Given the description of an element on the screen output the (x, y) to click on. 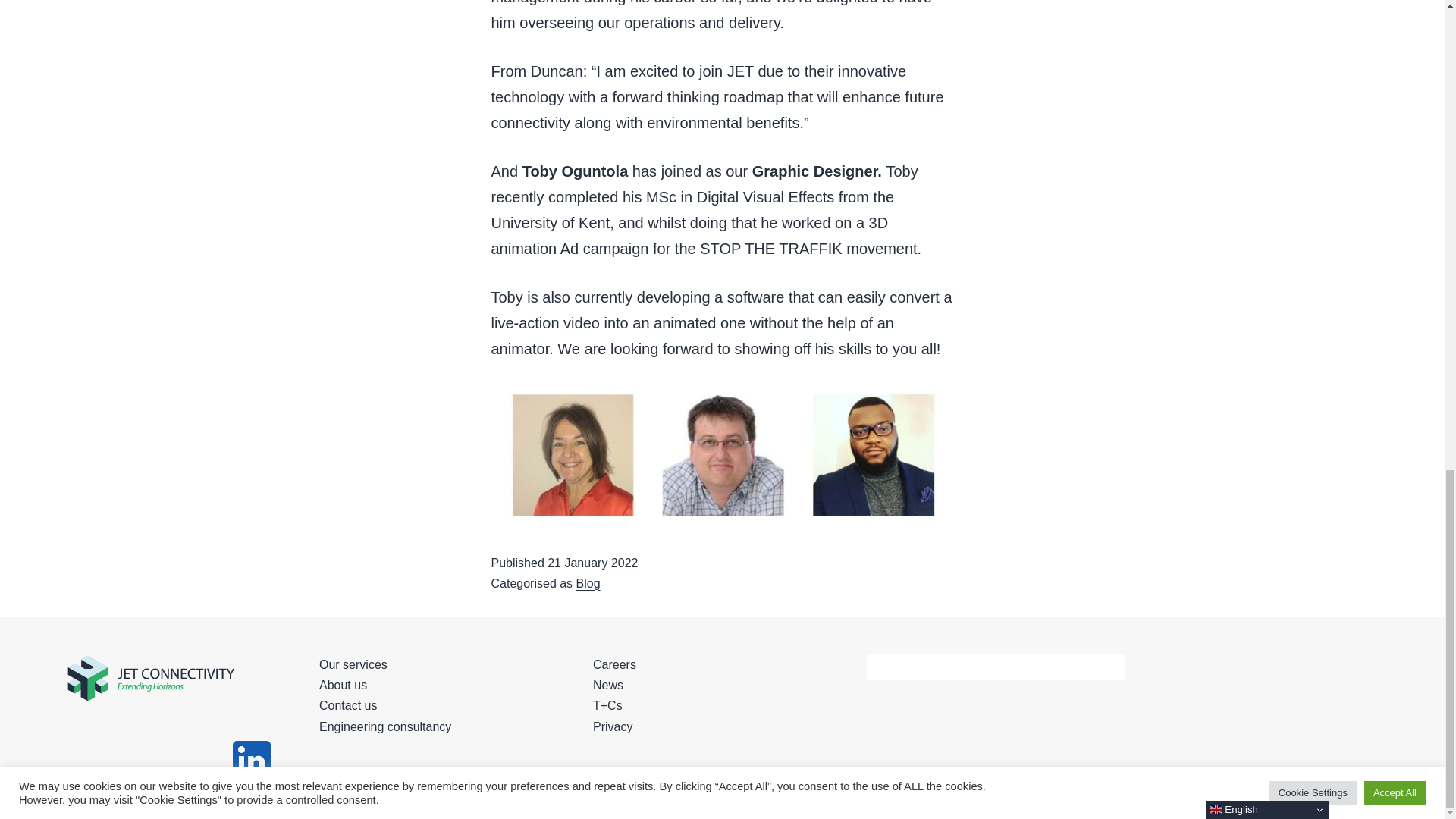
Blog (587, 583)
News (607, 684)
Our services (352, 664)
Careers (614, 664)
Privacy (611, 726)
About us (342, 684)
Engineering consultancy (384, 726)
Contact us (347, 705)
